Given the description of an element on the screen output the (x, y) to click on. 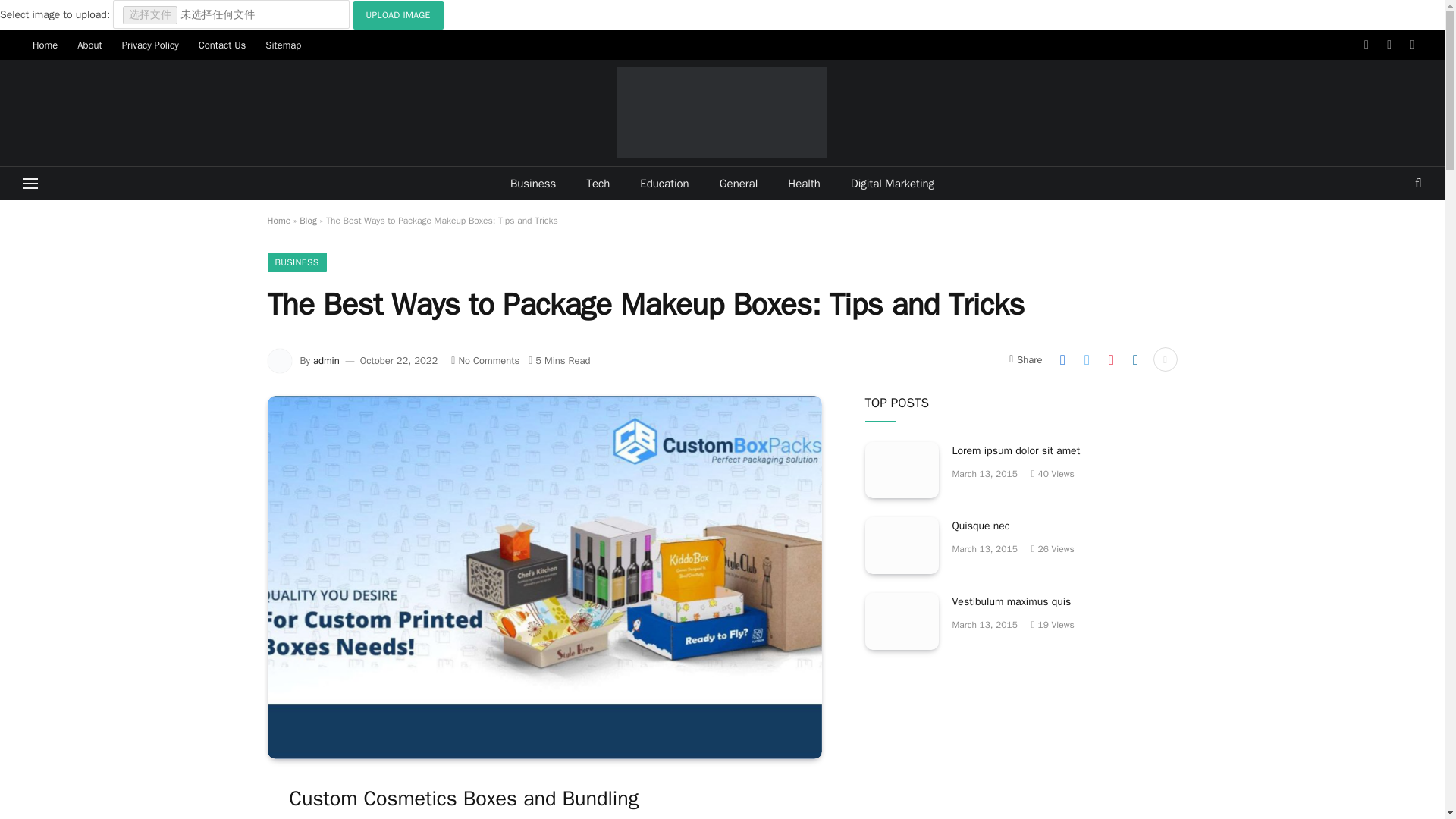
Show More Social Sharing (1164, 359)
BUSINESS (296, 261)
Business (533, 183)
Health (804, 183)
Home (44, 44)
Share on Facebook (1062, 359)
No Comments (485, 359)
Contact Us (222, 44)
General (738, 183)
Share on Pinterest (1110, 359)
